Given the description of an element on the screen output the (x, y) to click on. 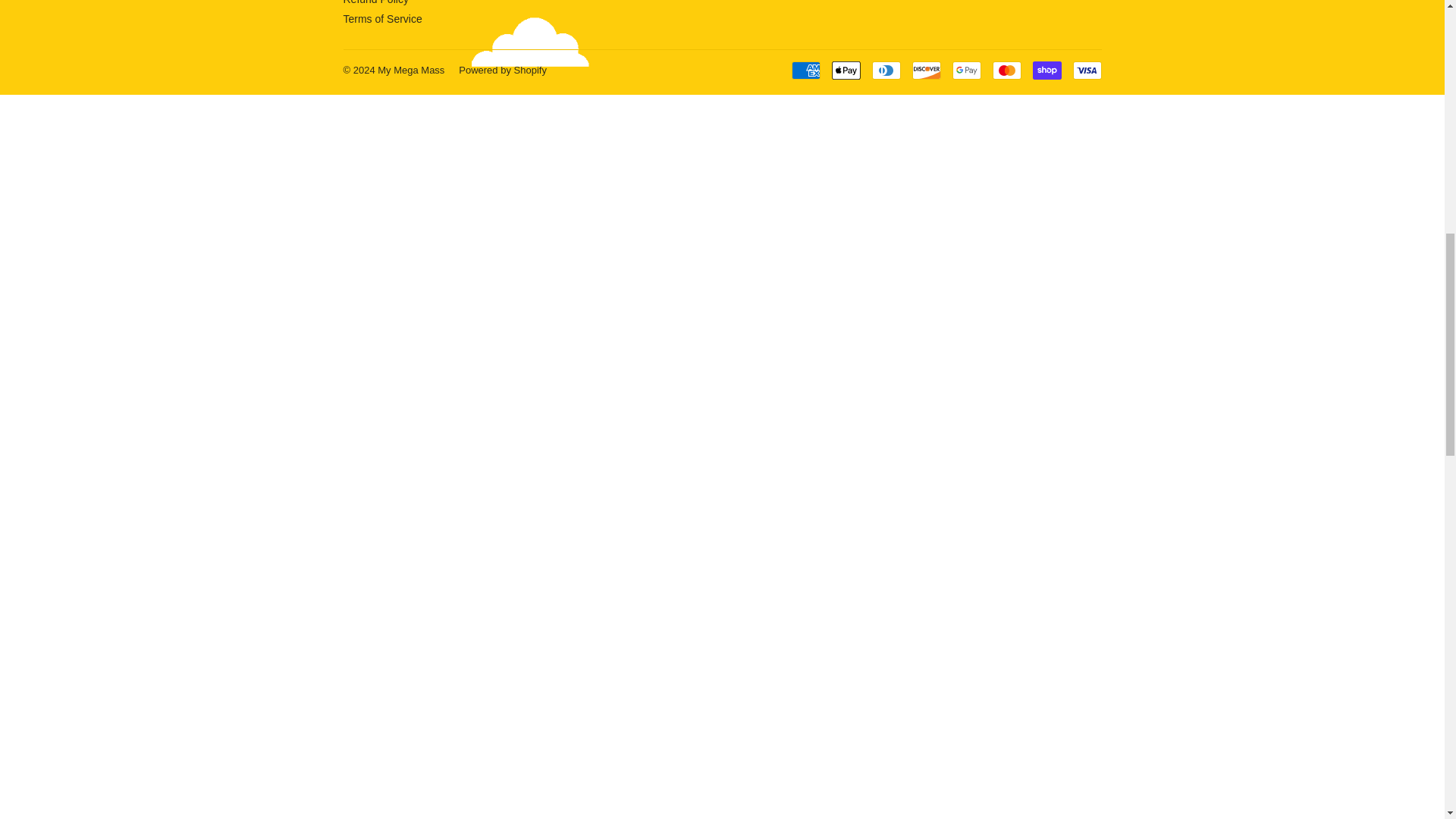
Visa (1085, 70)
American Express (806, 70)
Shop Pay (1046, 70)
Apple Pay (845, 70)
Mastercard (1005, 70)
Diners Club (886, 70)
Discover (925, 70)
Google Pay (966, 70)
